Given the description of an element on the screen output the (x, y) to click on. 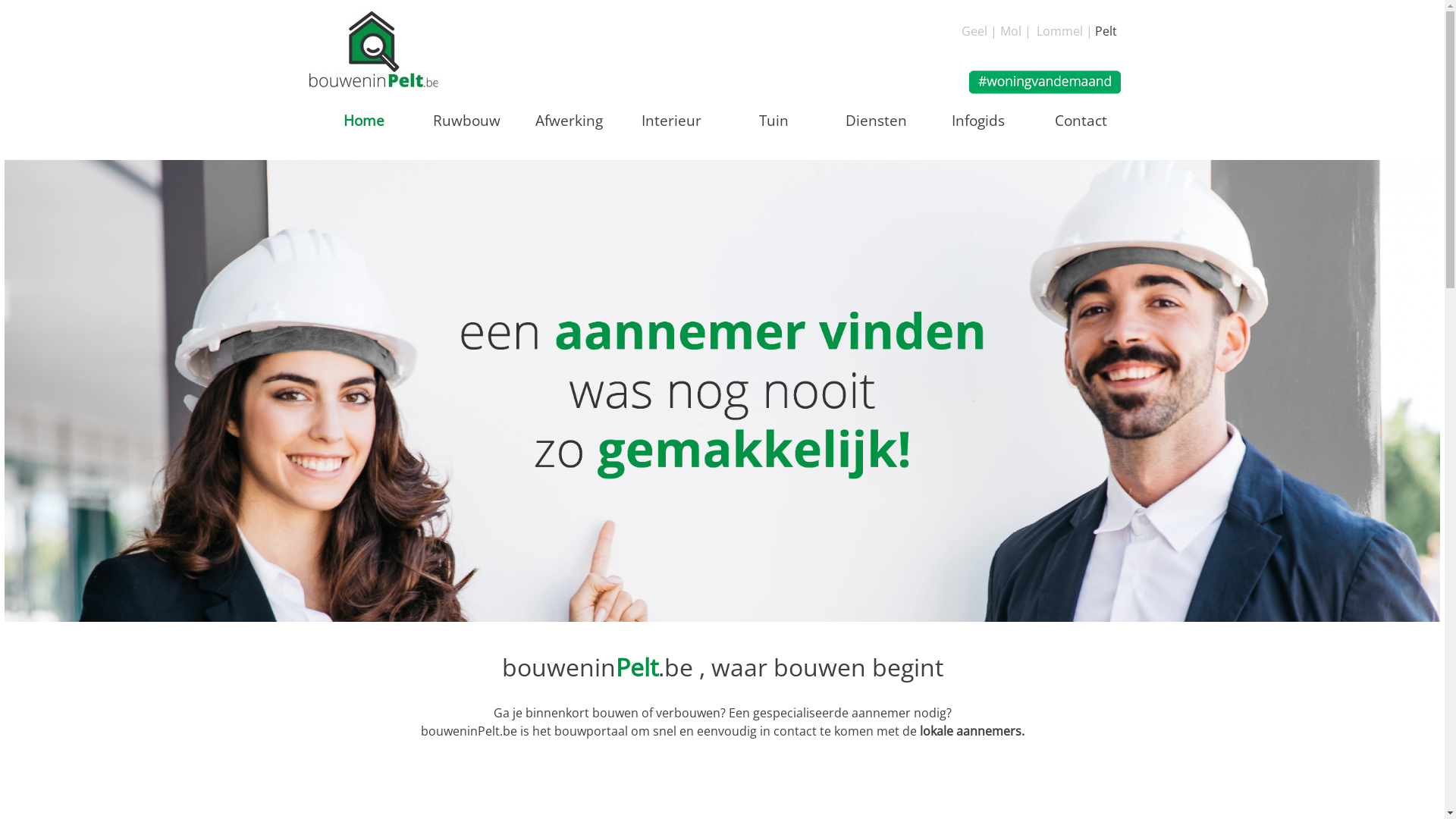
Home Element type: text (363, 120)
Geel | Element type: text (979, 30)
Lommel | Element type: text (1063, 30)
Mol | Element type: text (1014, 30)
